Given the description of an element on the screen output the (x, y) to click on. 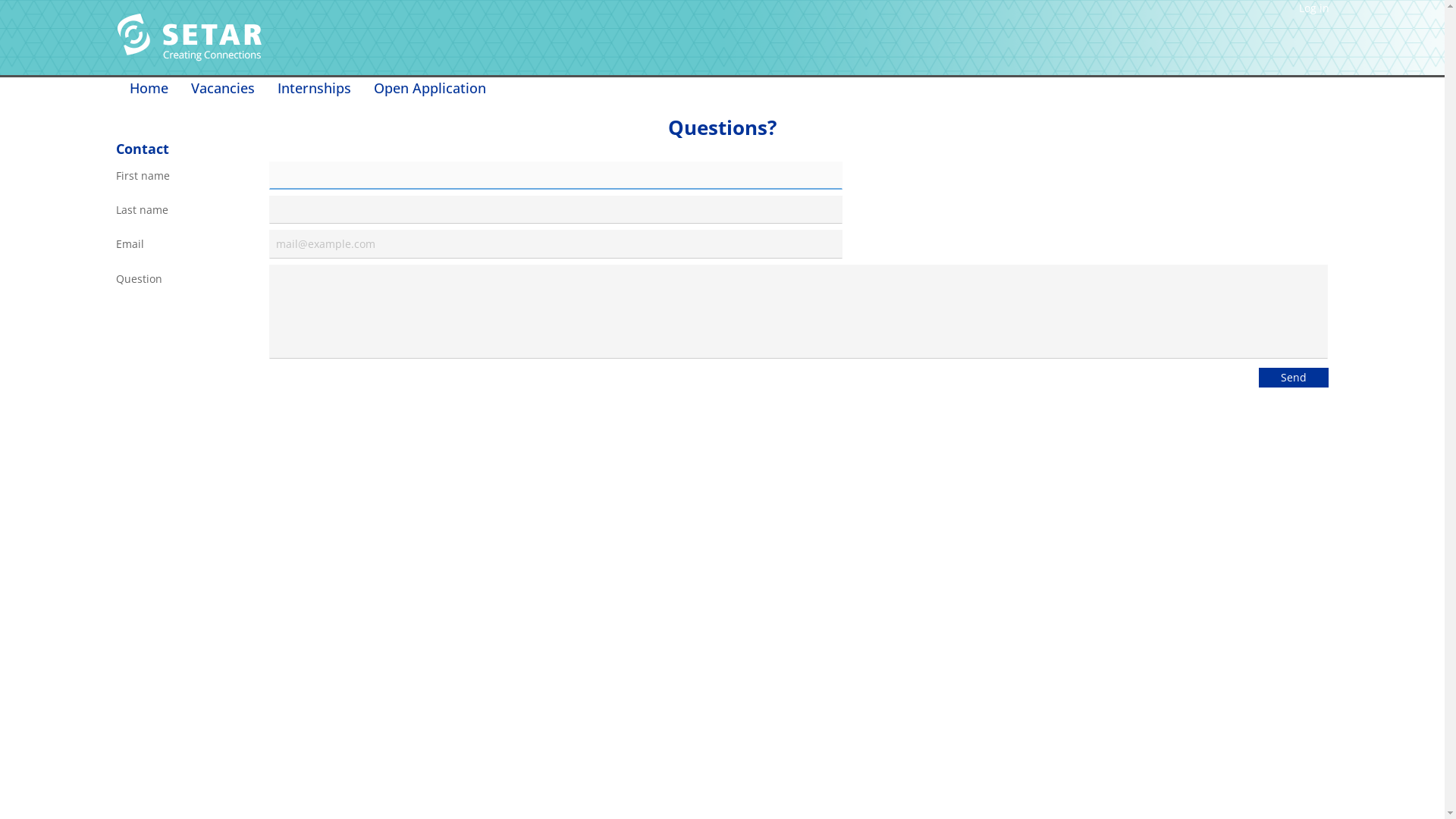
Home Element type: text (148, 87)
Internships Element type: text (313, 87)
Open Application Element type: text (429, 87)
Log in Element type: text (1313, 8)
Send Element type: text (1293, 377)
Vacancies Element type: text (221, 87)
